Given the description of an element on the screen output the (x, y) to click on. 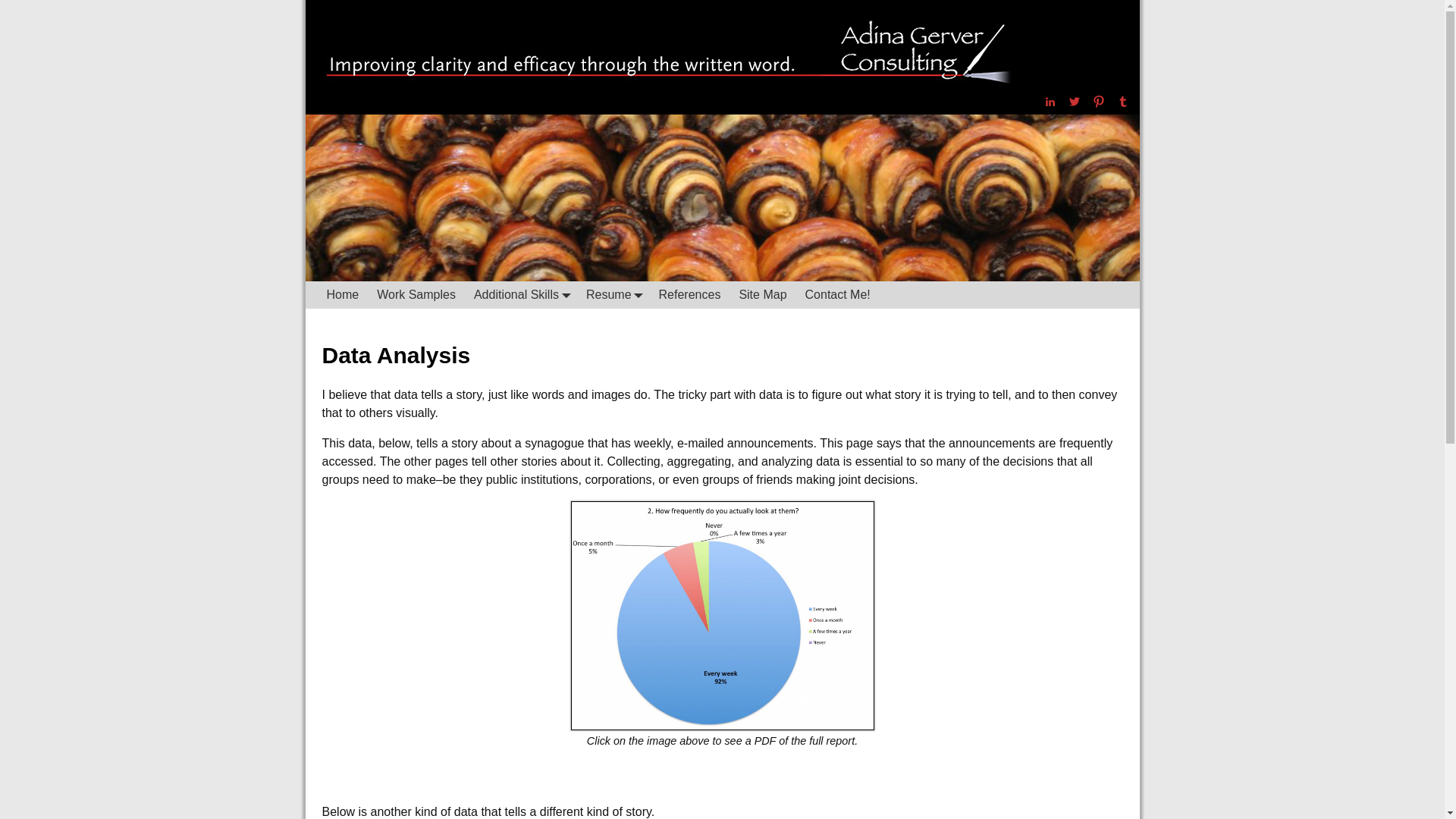
Home (342, 294)
References (689, 294)
Site Map (761, 294)
Resume (612, 294)
Additional Skills (520, 294)
Work Samples (416, 294)
Contact Me! (837, 294)
